Given the description of an element on the screen output the (x, y) to click on. 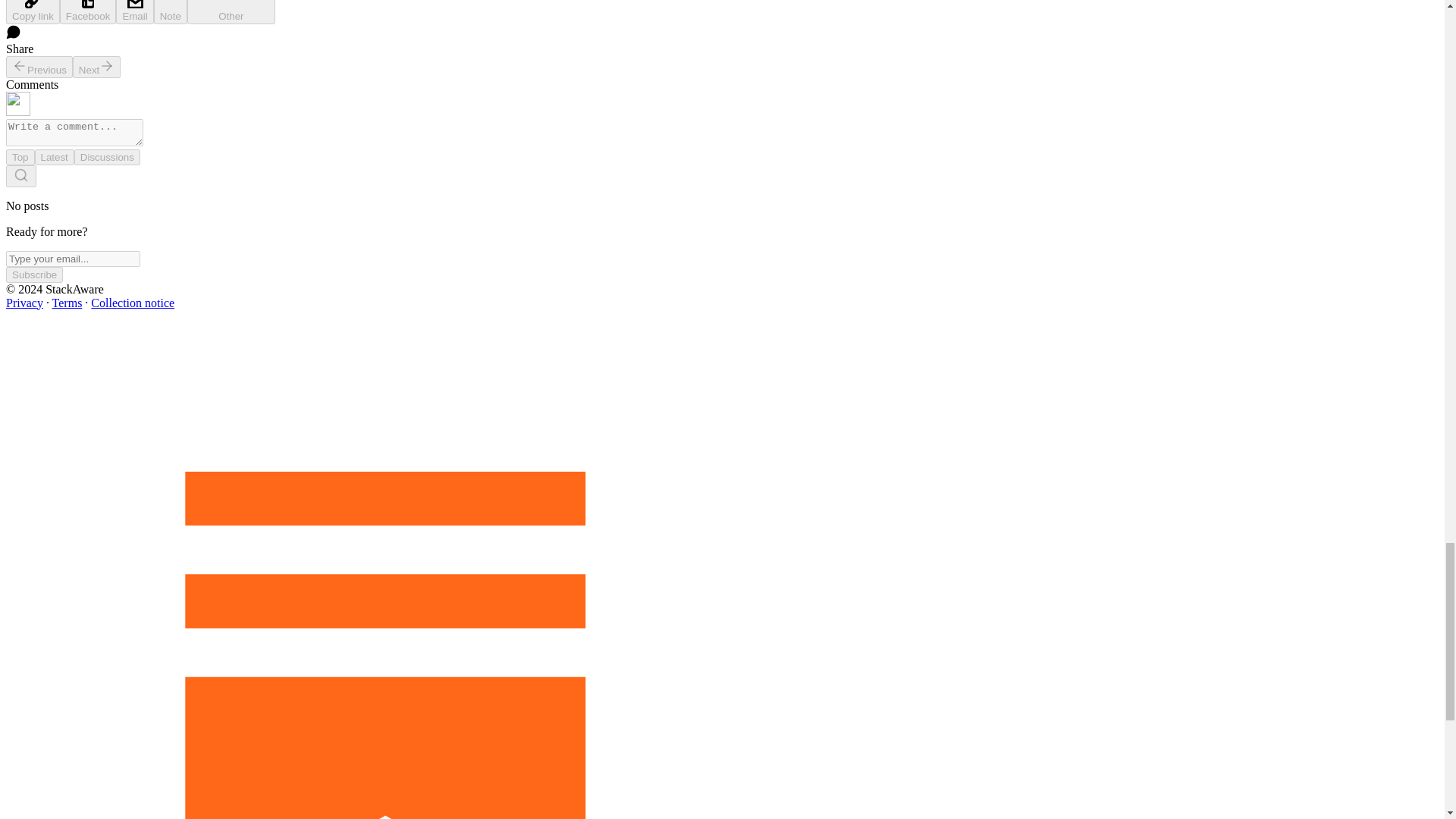
Other (231, 12)
Copy link (32, 12)
Facebook (87, 12)
Previous (38, 66)
Email (134, 12)
Note (170, 12)
